Given the description of an element on the screen output the (x, y) to click on. 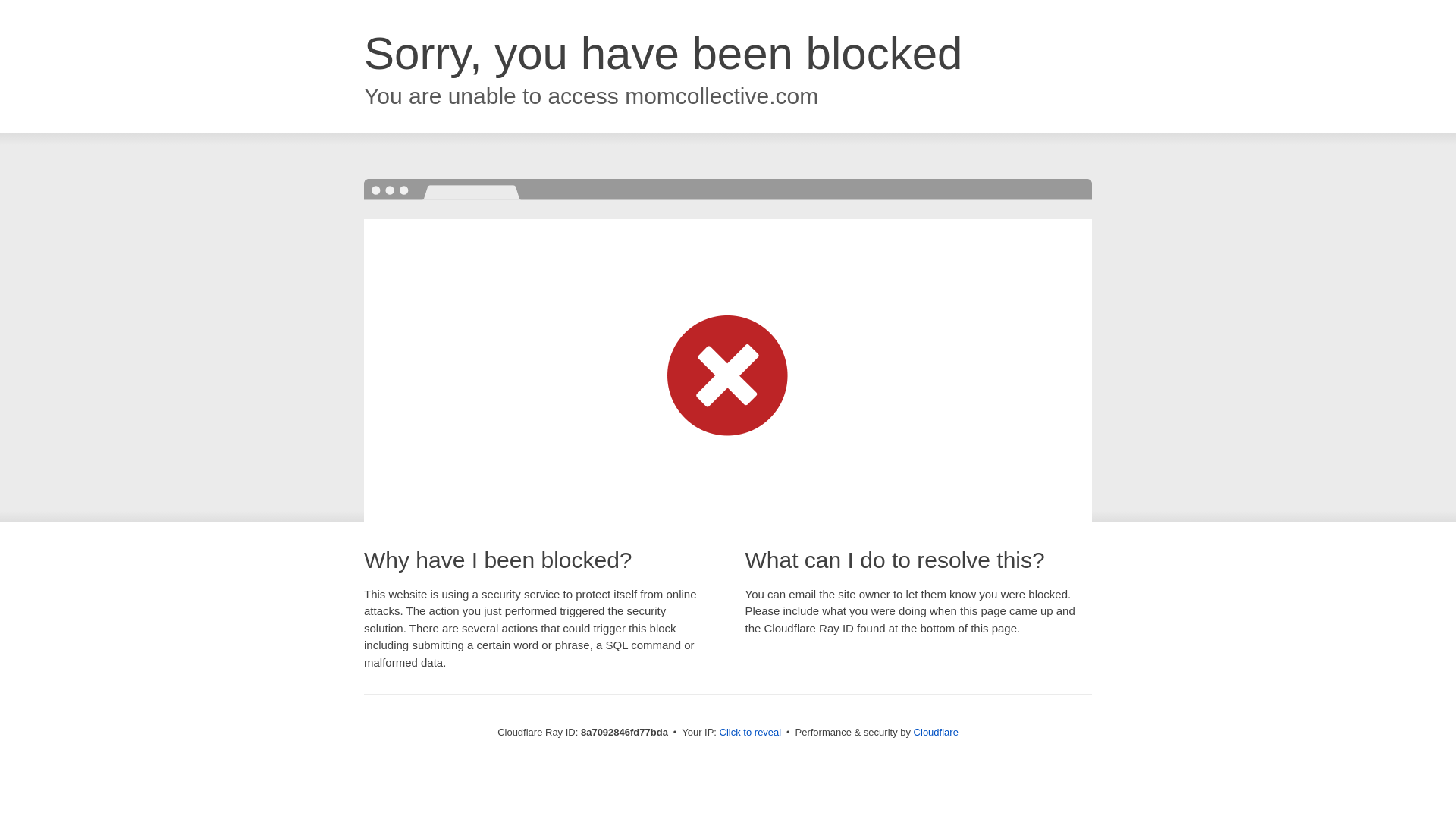
Click to reveal (750, 732)
Cloudflare (936, 731)
